Given the description of an element on the screen output the (x, y) to click on. 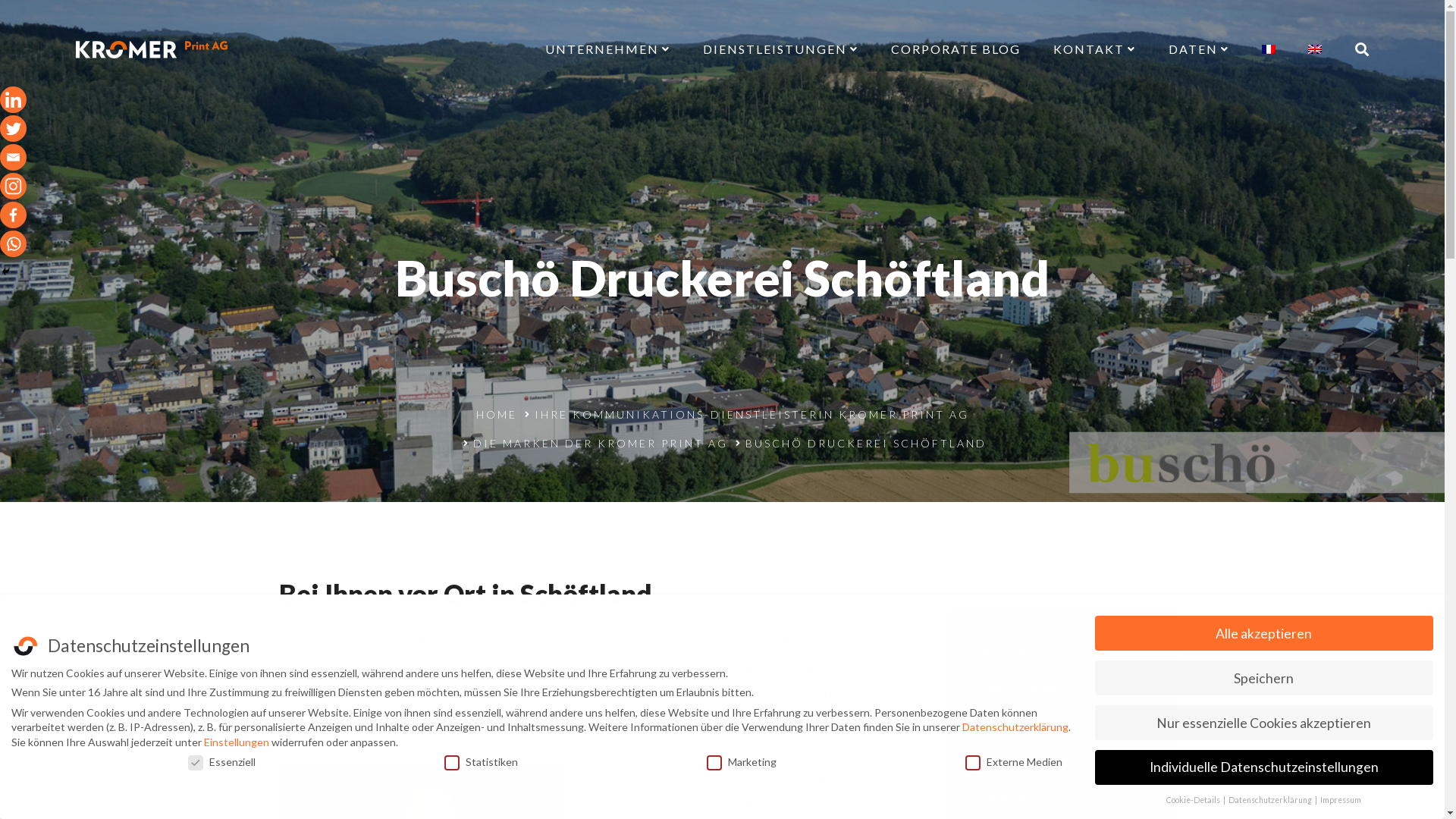
CORPORATE BLOG Element type: text (955, 49)
Speichern Element type: text (1264, 677)
Impressum Element type: text (1340, 799)
+41 62 721 14 14 Element type: text (1061, 729)
Hide Element type: hover (6, 271)
Whatsapp Element type: hover (13, 243)
DIE MARKEN DER KROMER PRINT AG Element type: text (600, 442)
Instagram Element type: hover (13, 185)
Individuelle Datenschutzeinstellungen Element type: text (1264, 766)
UNTERNEHMEN Element type: text (607, 49)
IHRE KOMMUNIKATIONS-DIENSTLEISTERIN KROMER PRINT AG Element type: text (750, 413)
buschoe@buschoe.ch Element type: text (1063, 758)
DATEN Element type: text (1198, 49)
Linkedin Element type: hover (13, 99)
HOME Element type: text (496, 413)
Nur essenzielle Cookies akzeptieren Element type: text (1264, 722)
Cookie-Details Element type: text (1193, 799)
DIENSTLEISTUNGEN Element type: text (780, 49)
Facebook Element type: hover (13, 214)
Einstellungen Element type: text (236, 741)
Twitter Element type: hover (13, 128)
Email Element type: hover (13, 157)
Alle akzeptieren Element type: text (1264, 632)
KONTAKT Element type: text (1094, 49)
